Given the description of an element on the screen output the (x, y) to click on. 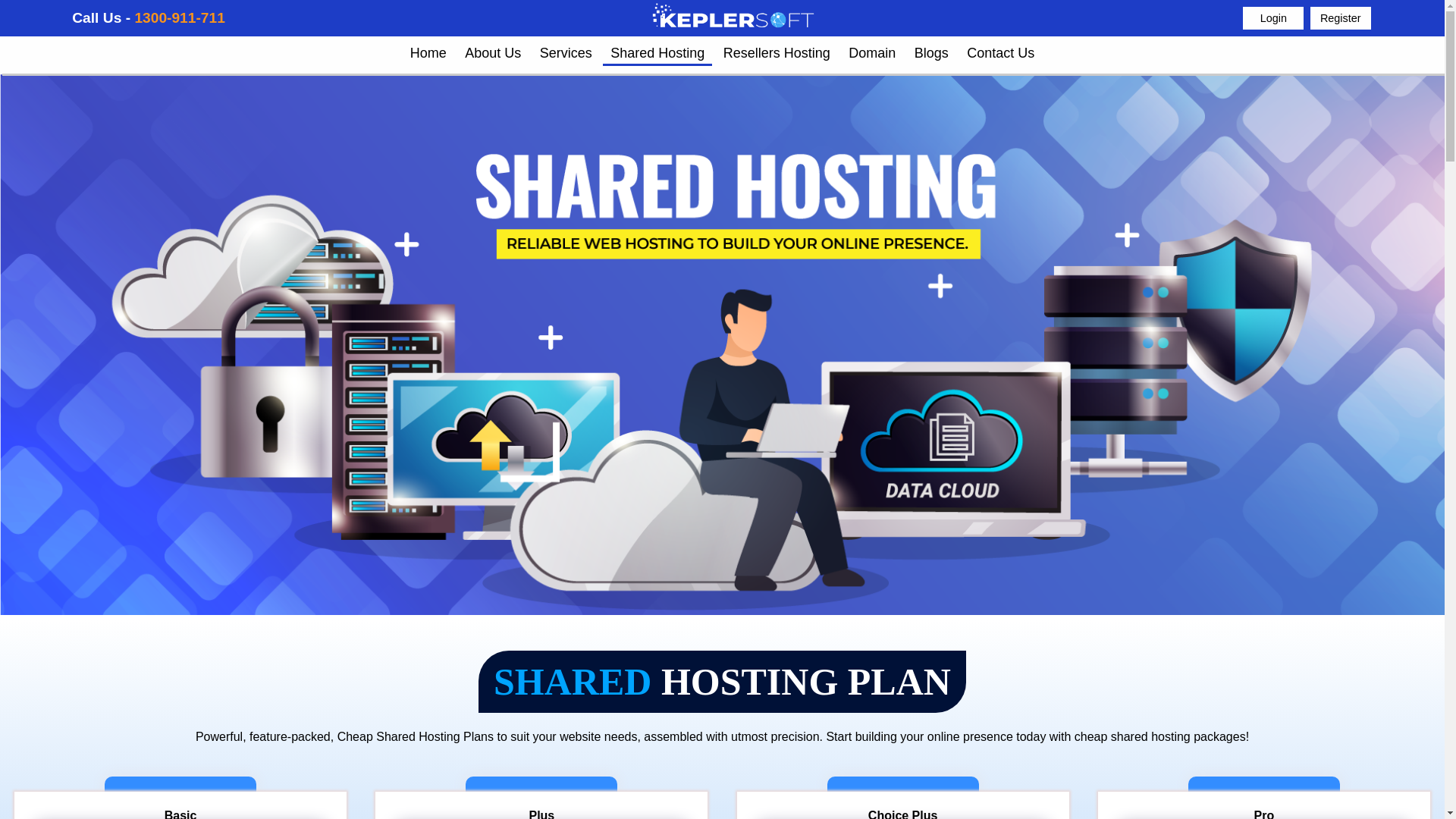
About Us (492, 51)
Domain (871, 51)
Blogs (931, 51)
1300-911-711 (179, 17)
Services (565, 51)
Register (1340, 17)
Contact Us (1000, 51)
Resellers Hosting (777, 51)
Login (1273, 17)
Home (428, 51)
